Given the description of an element on the screen output the (x, y) to click on. 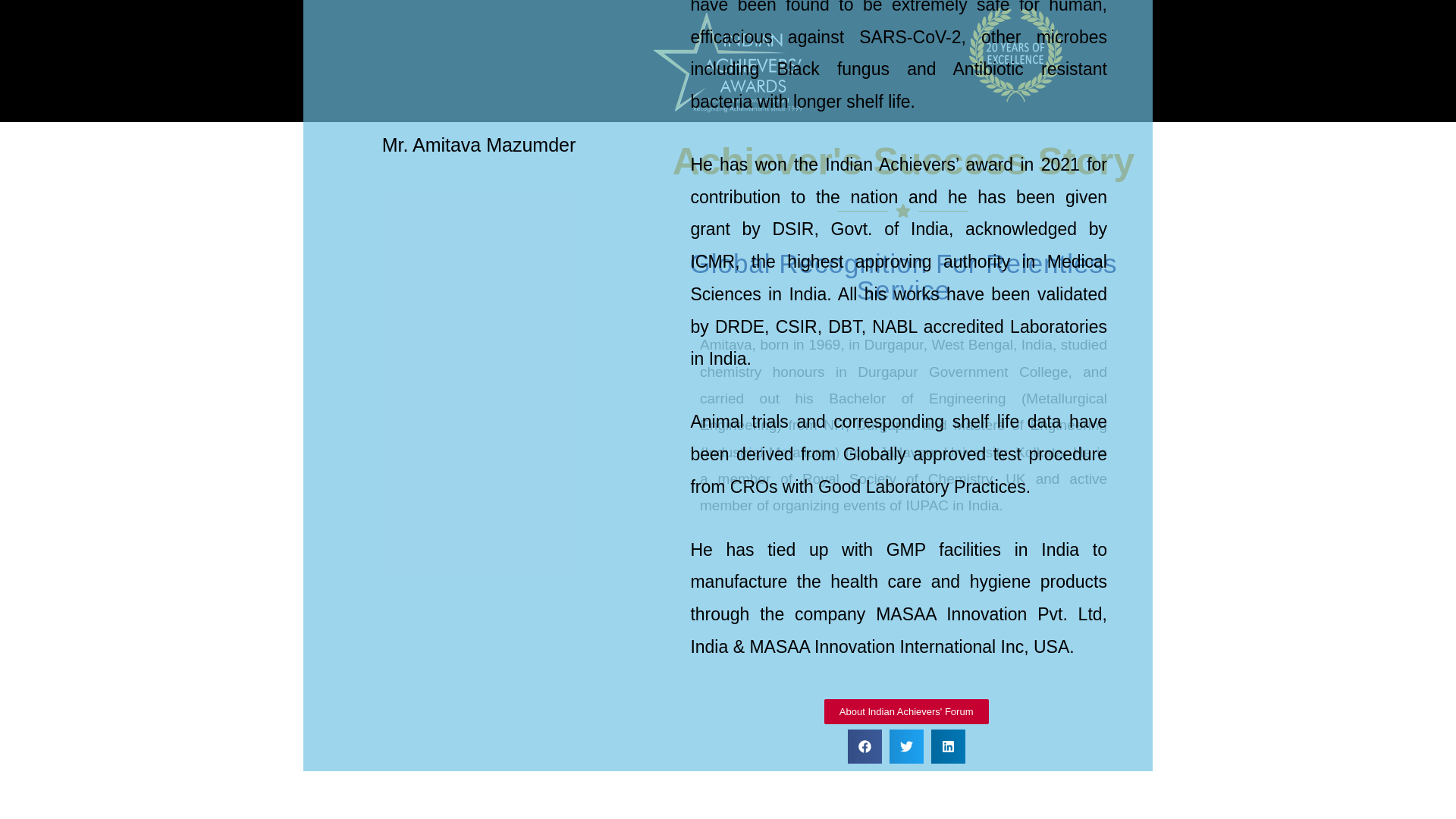
About Indian Achievers' Forum (958, 719)
